Given the description of an element on the screen output the (x, y) to click on. 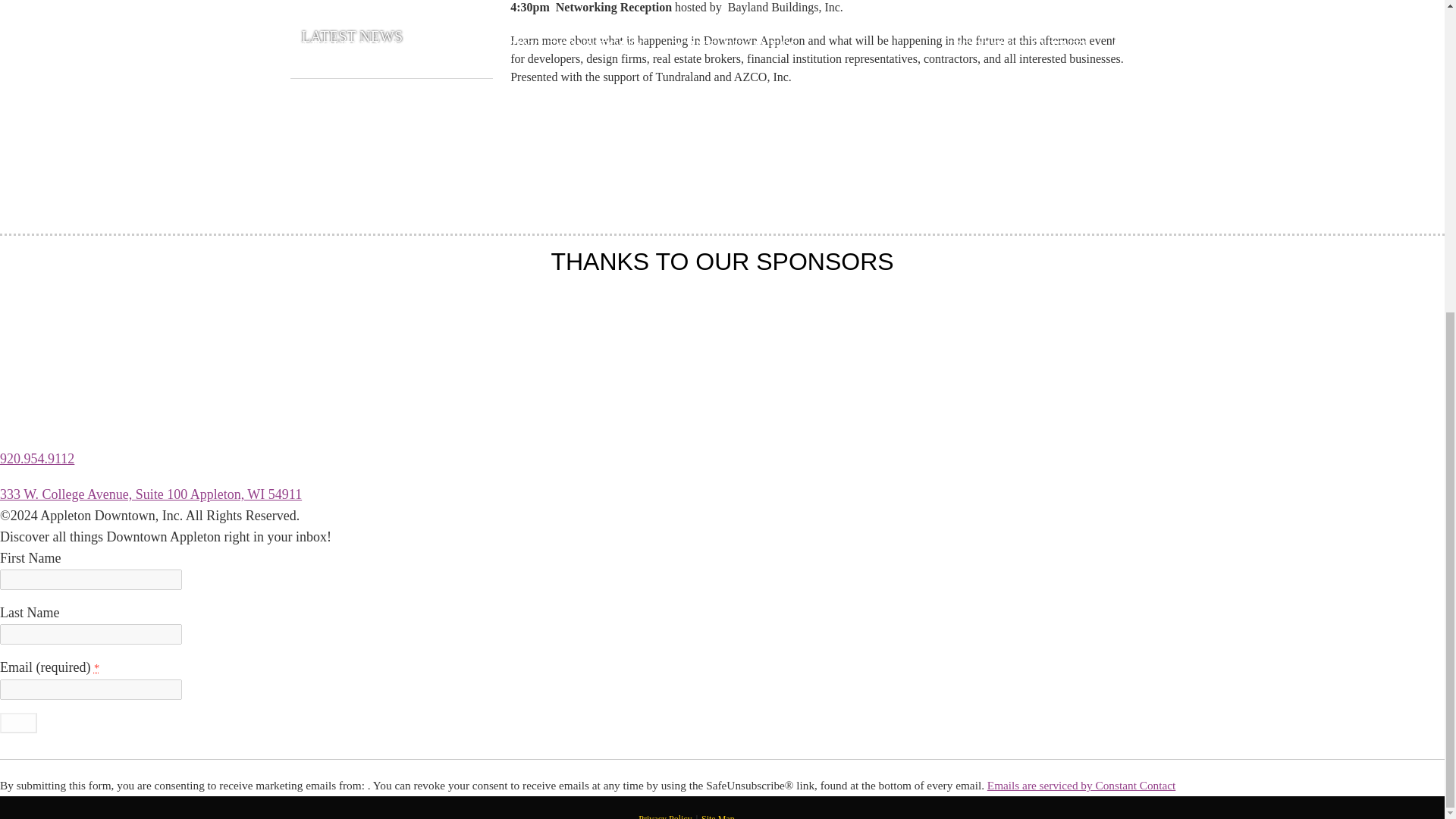
GO! (18, 722)
